Given the description of an element on the screen output the (x, y) to click on. 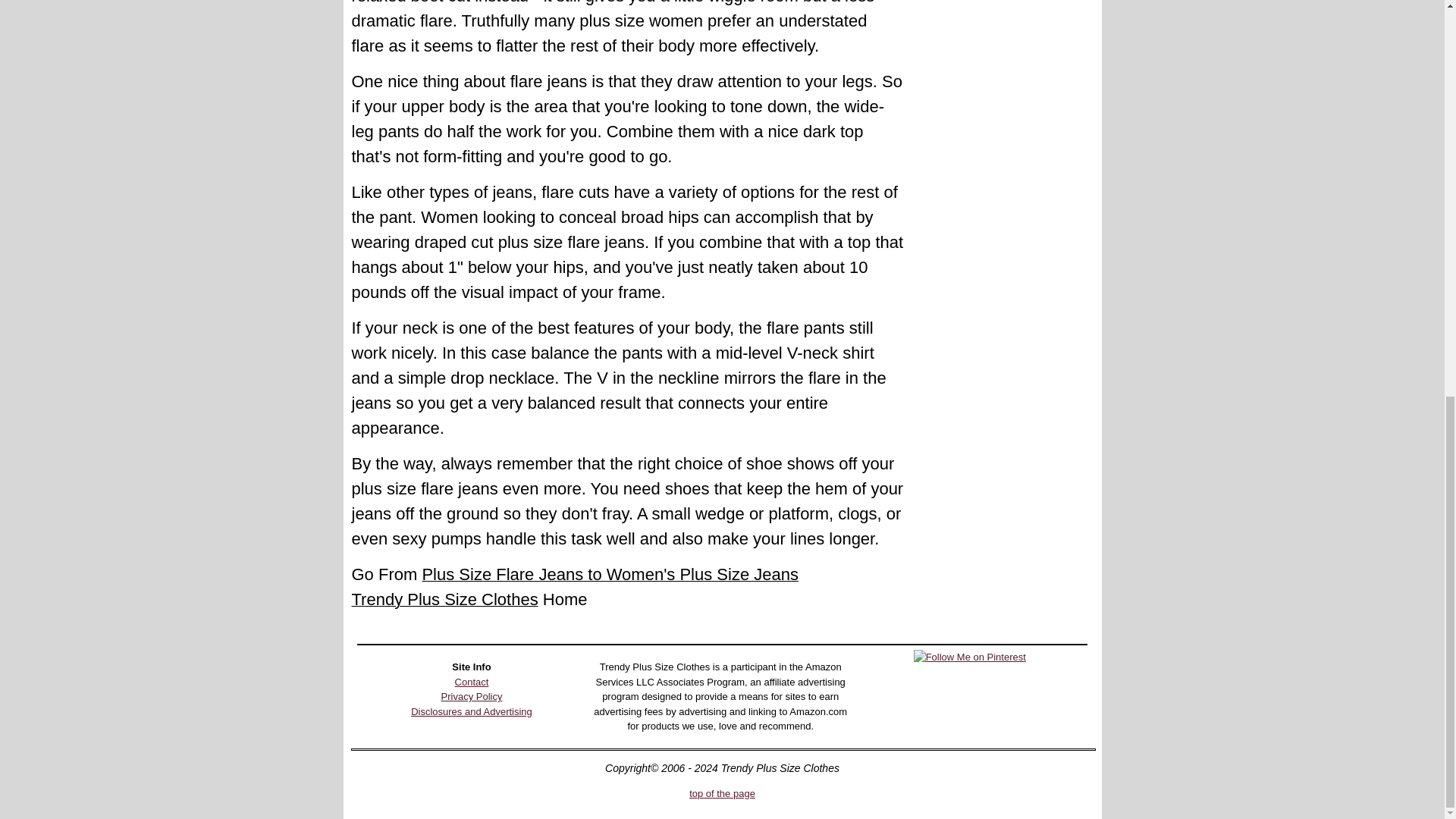
Disclosures and Advertising (471, 710)
Privacy Policy (471, 696)
Plus Size Flare Jeans to Women's Plus Size Jeans (609, 576)
Contact (471, 681)
top of the page (721, 793)
Trendy Plus Size Clothes (445, 601)
